Given the description of an element on the screen output the (x, y) to click on. 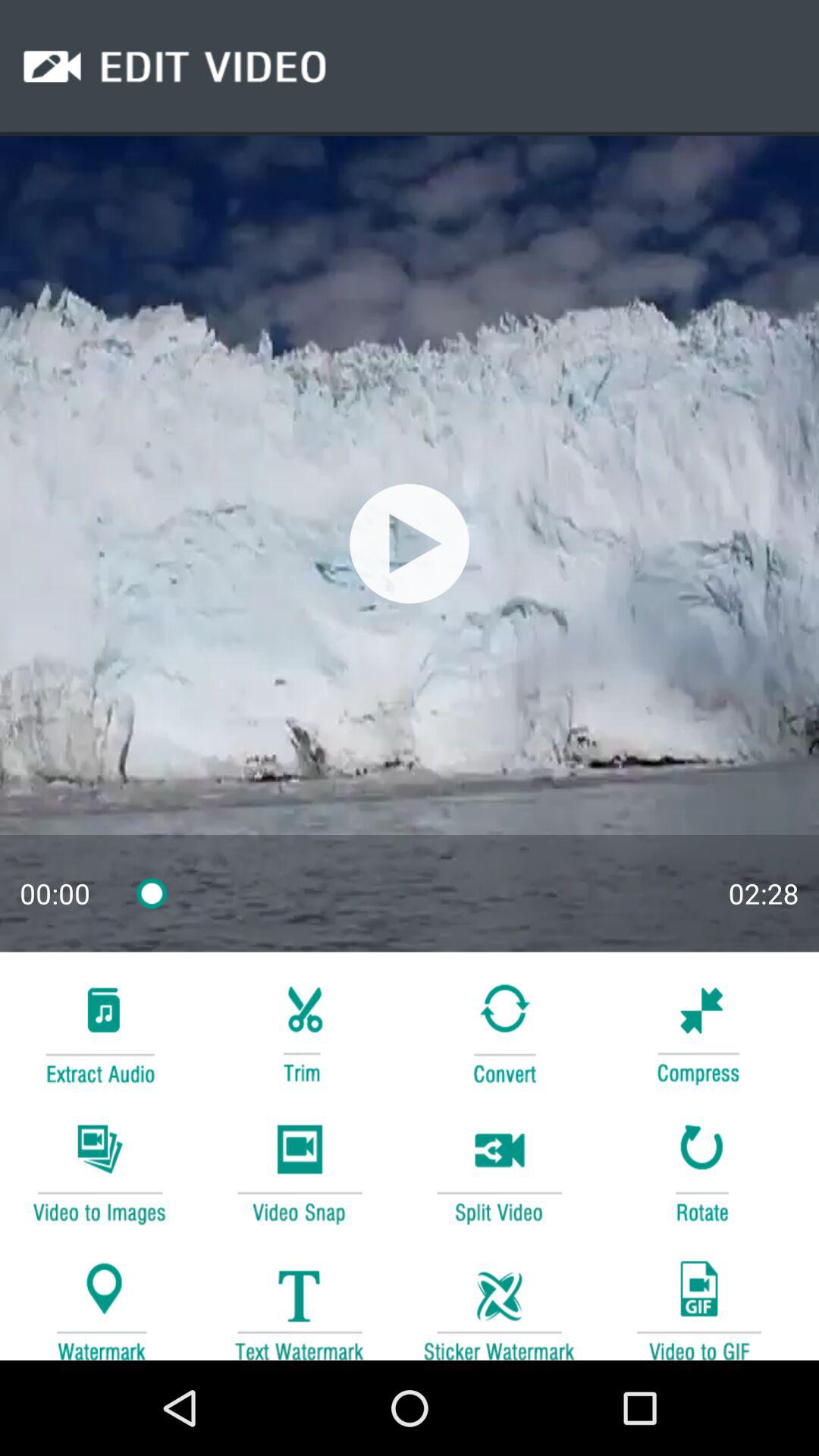
go to stop (409, 543)
